Given the description of an element on the screen output the (x, y) to click on. 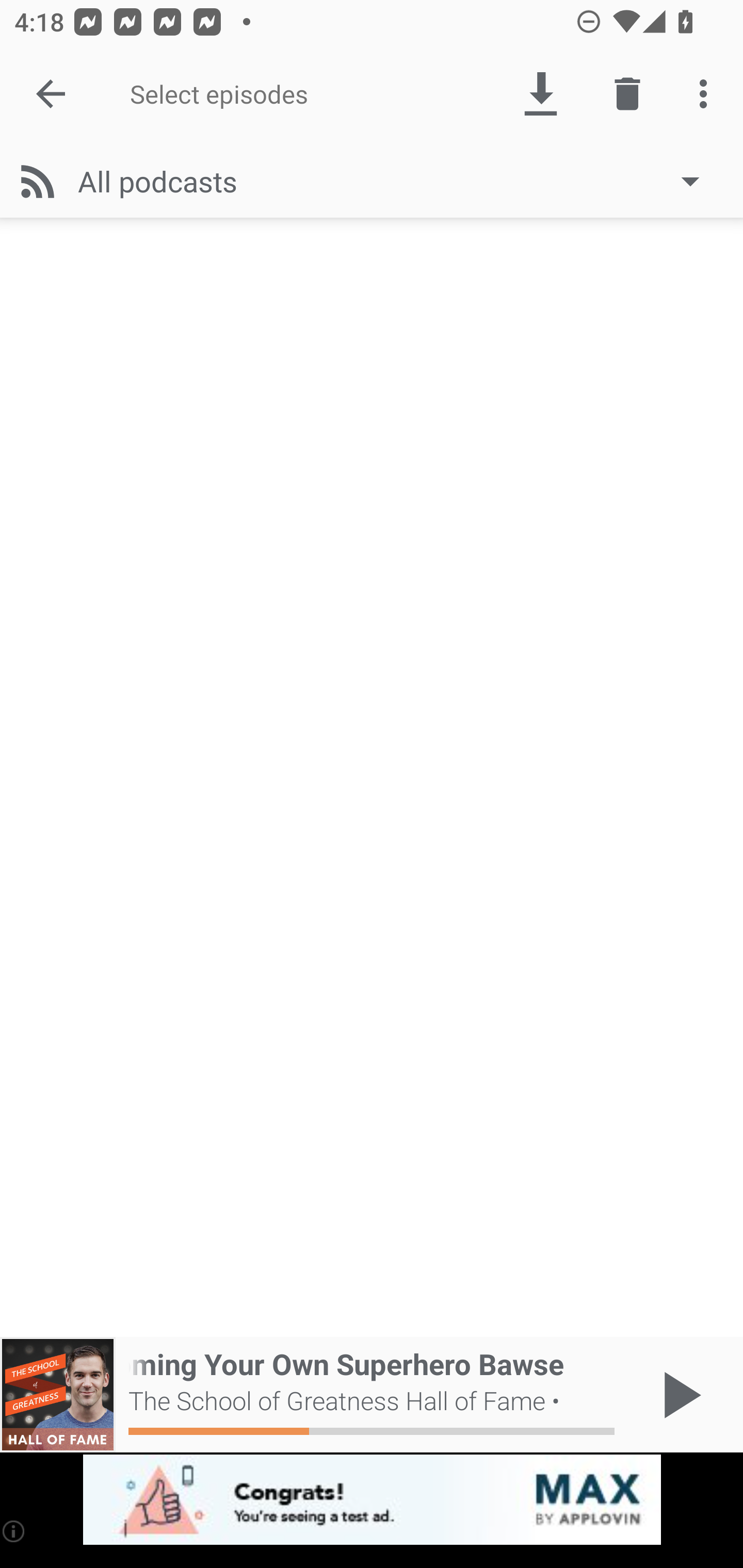
Done (50, 93)
Download (540, 93)
Delete episode (626, 93)
More options (706, 93)
All podcasts (398, 180)
Play / Pause (677, 1394)
app-monetization (371, 1500)
(i) (14, 1531)
